Given the description of an element on the screen output the (x, y) to click on. 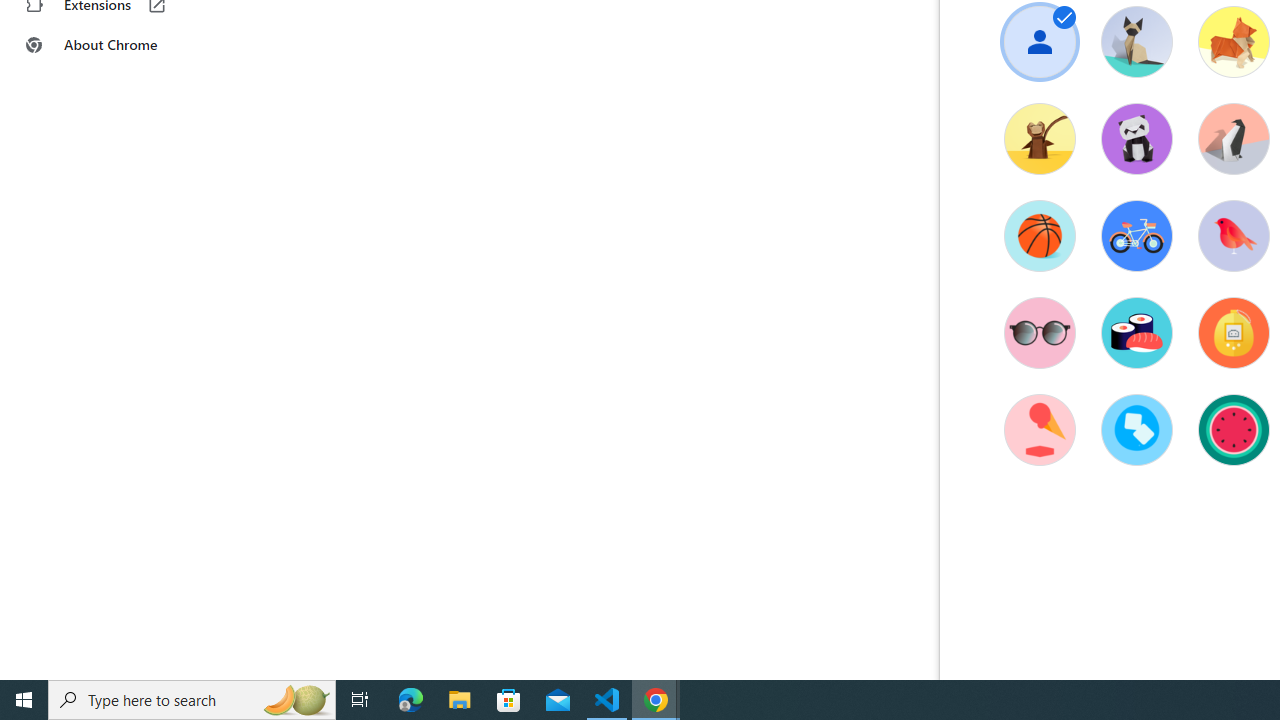
About Chrome (124, 44)
